Given the description of an element on the screen output the (x, y) to click on. 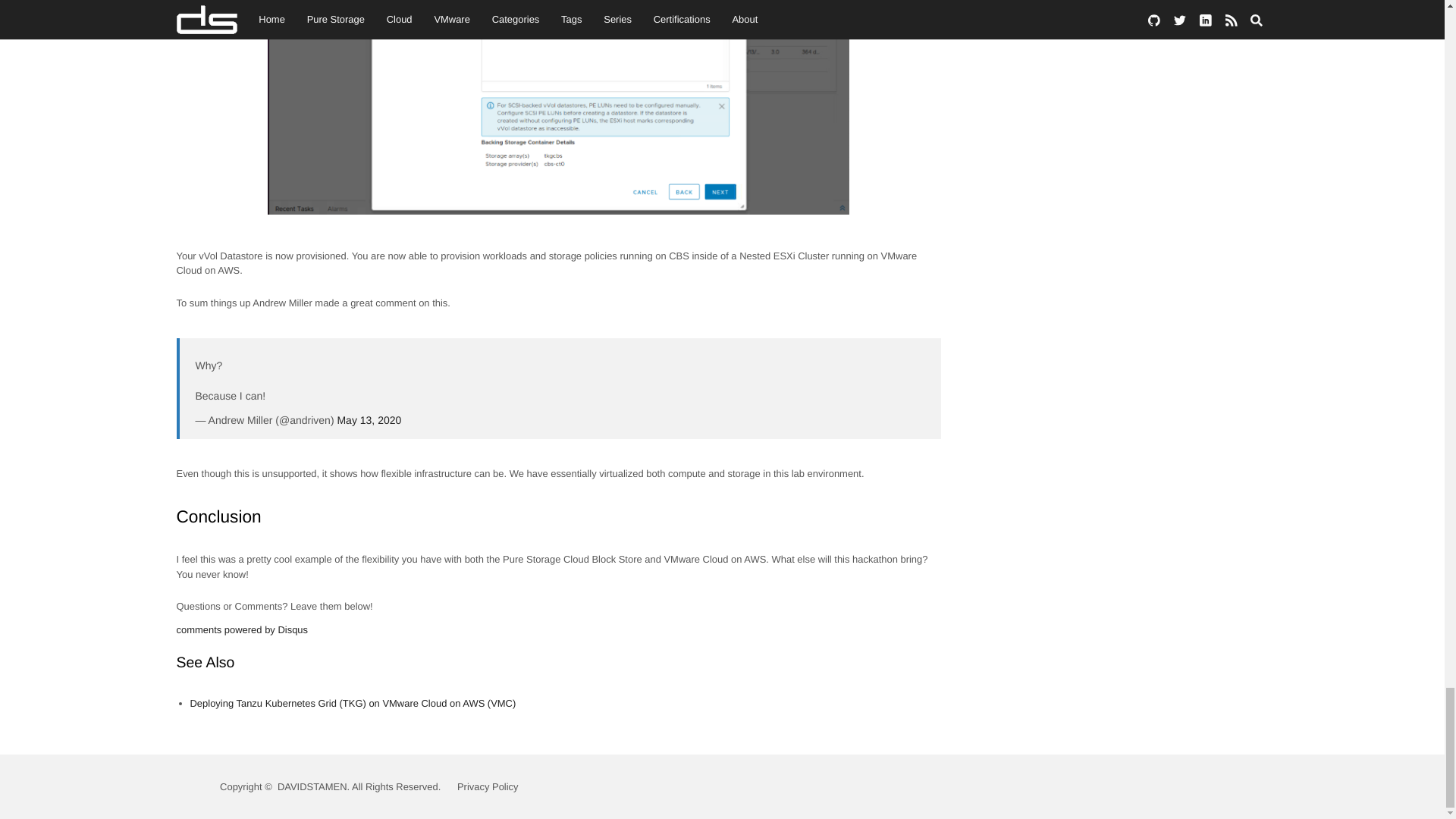
May 13, 2020 (368, 419)
comments powered by Disqus (241, 629)
